Given the description of an element on the screen output the (x, y) to click on. 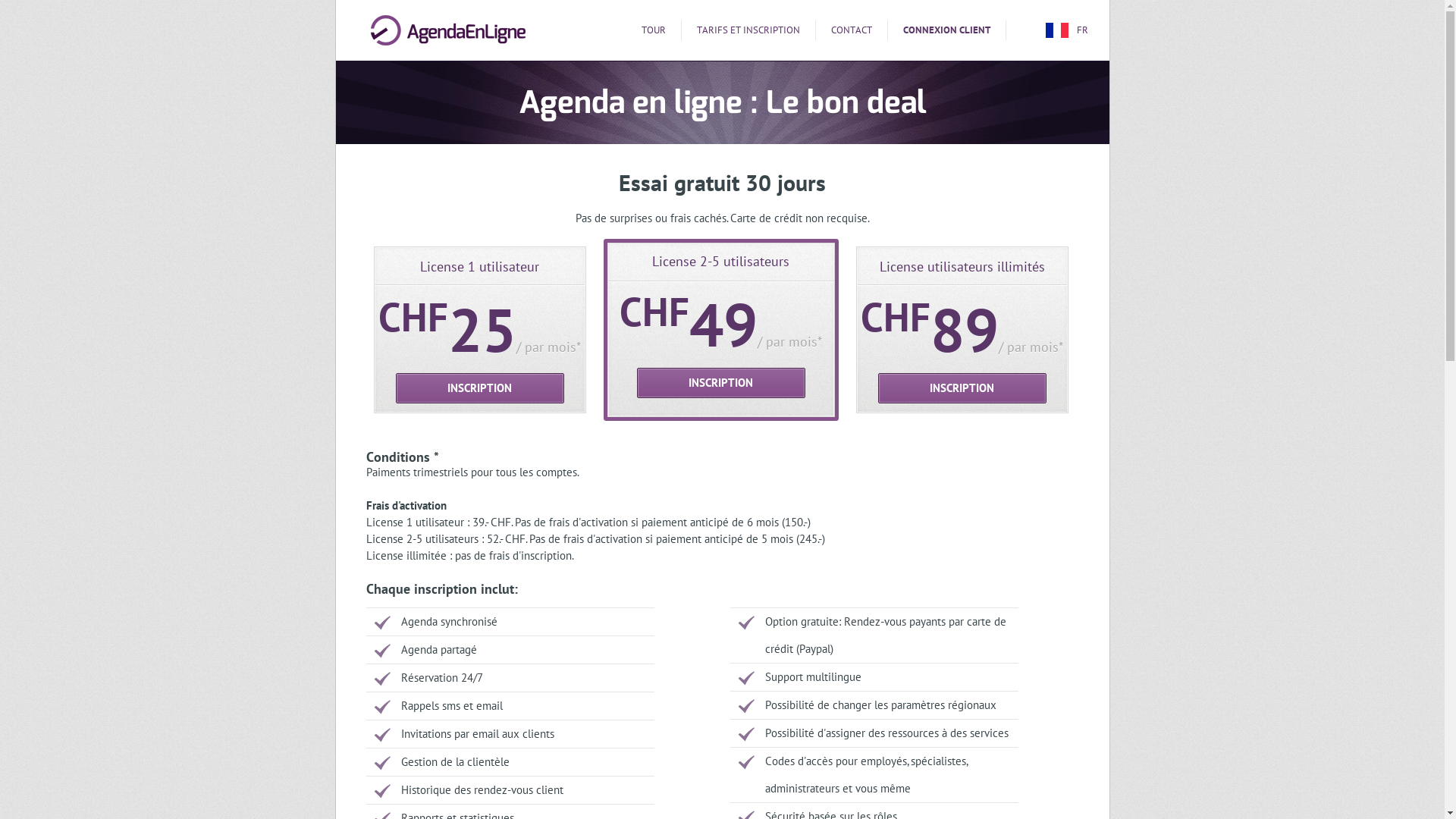
INSCRIPTION Element type: text (962, 388)
INSCRIPTION Element type: text (721, 382)
FR Element type: text (1068, 30)
AGENDA EN LIGNE Element type: text (447, 30)
TARIFS ET INSCRIPTION Element type: text (747, 30)
TOUR Element type: text (653, 30)
CONTACT Element type: text (851, 30)
CONNEXION CLIENT Element type: text (946, 30)
INSCRIPTION Element type: text (479, 388)
